Given the description of an element on the screen output the (x, y) to click on. 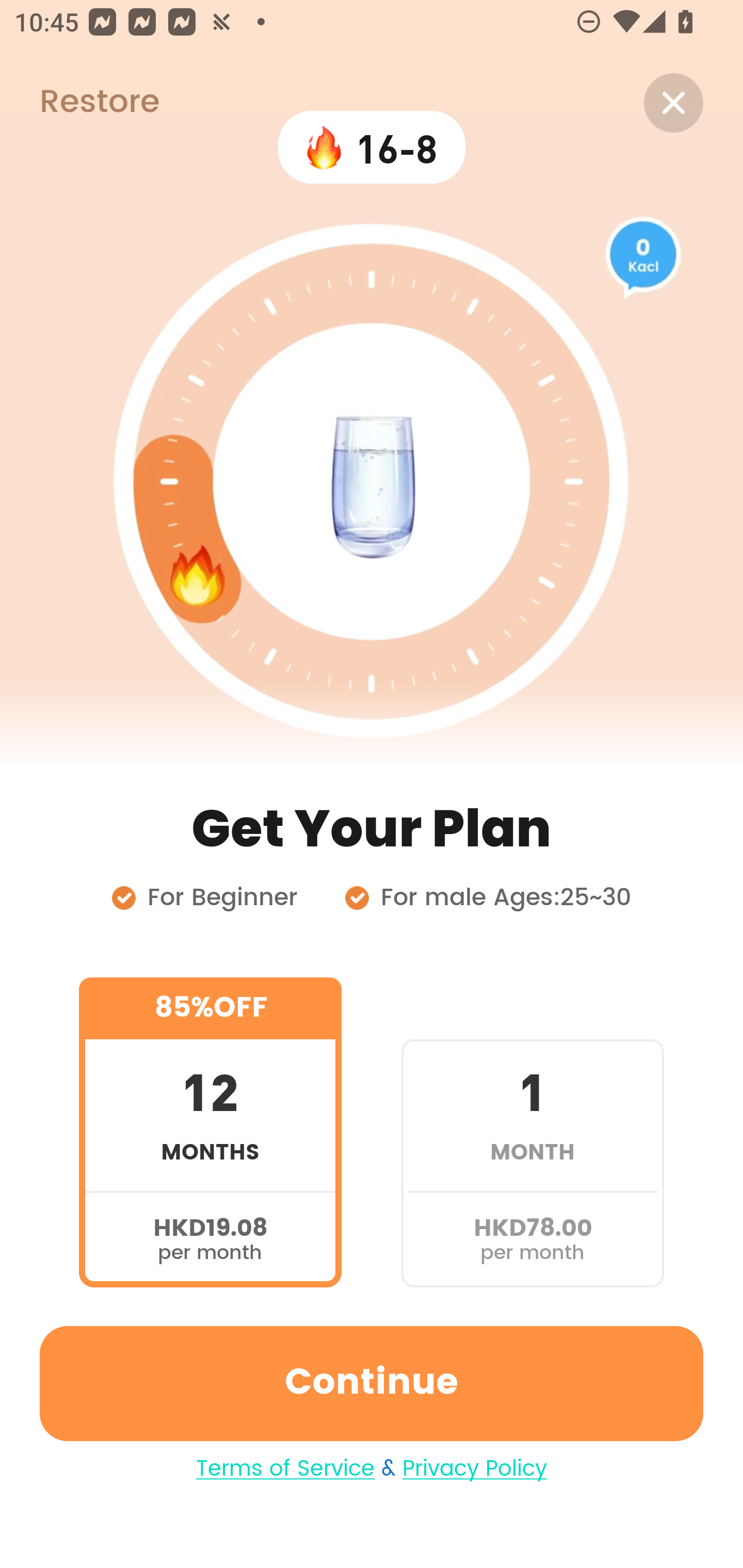
Restore (79, 102)
85%OFF 12 MONTHS per month HKD19.08 (209, 1131)
1 MONTH per month HKD78.00 (532, 1131)
Continue (371, 1383)
